Given the description of an element on the screen output the (x, y) to click on. 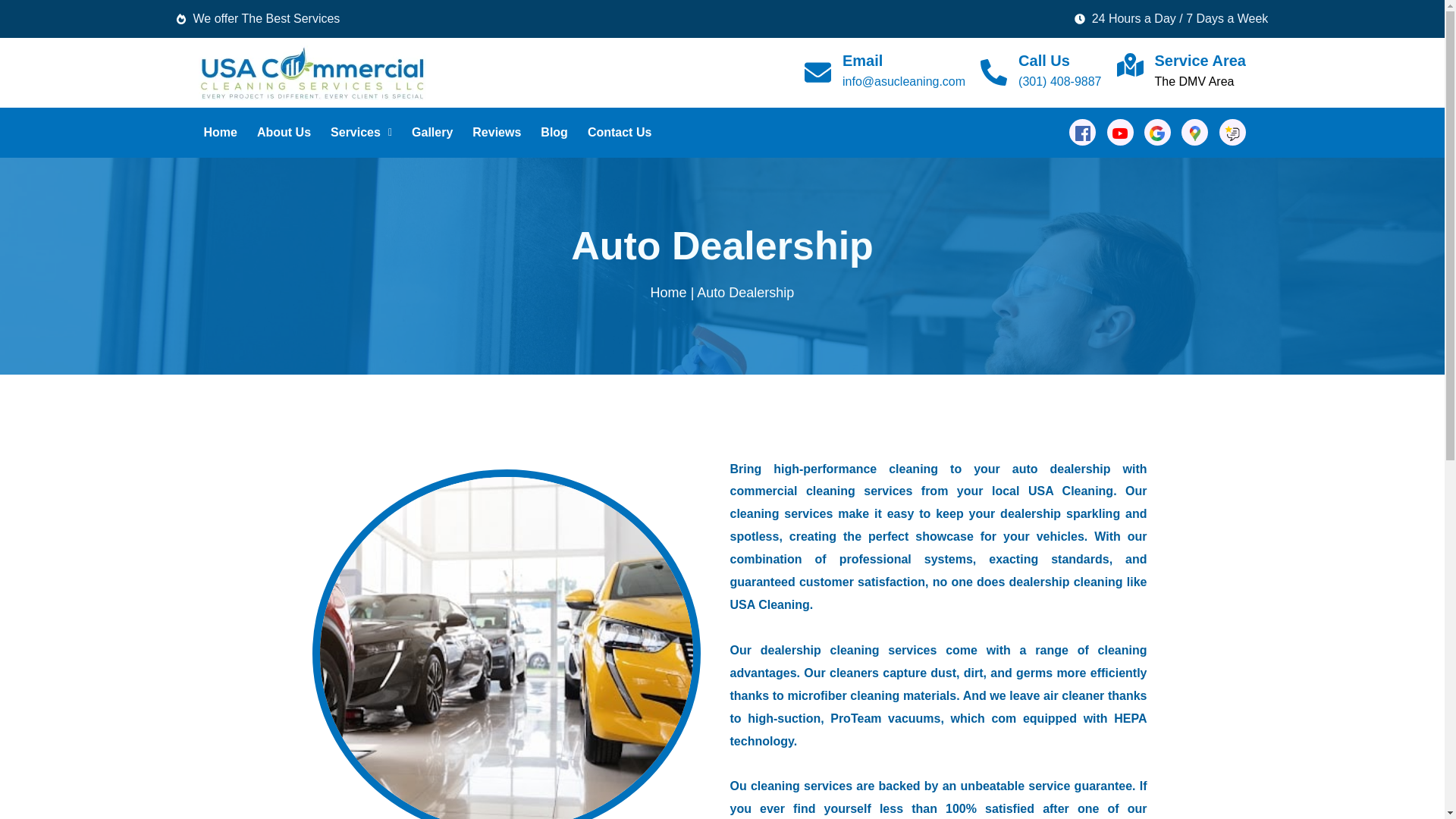
Email (862, 60)
Call Us (1043, 60)
